Given the description of an element on the screen output the (x, y) to click on. 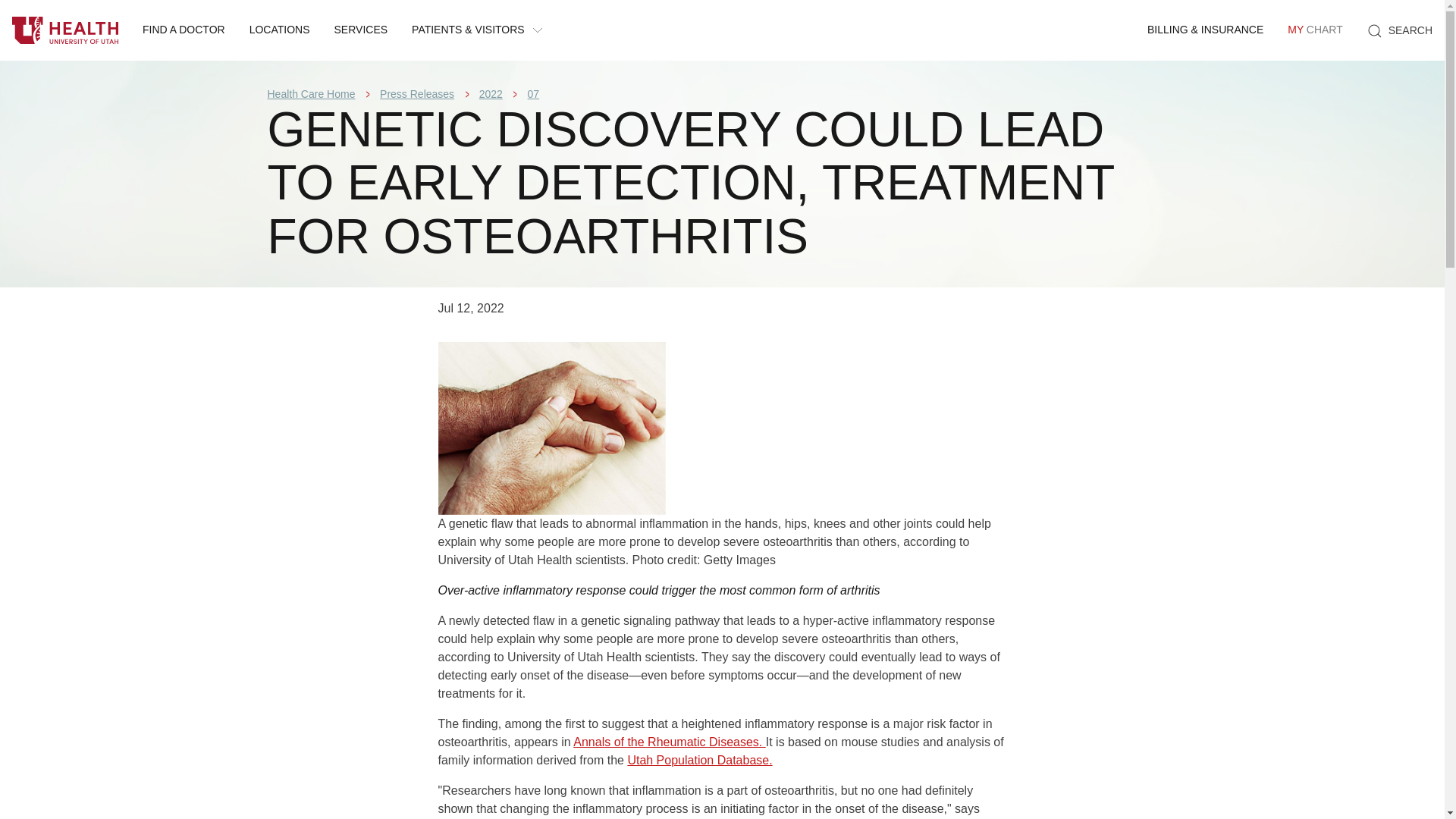
Press Releases (417, 93)
Health Care Home (310, 93)
FIND A DOCTOR (184, 30)
Annals of the Rheumatic Diseases. (669, 741)
SERVICES (360, 30)
University of Utah Health logo (1314, 30)
SEARCH (65, 30)
LOCATIONS (1399, 30)
Skip to main content (279, 30)
07 (490, 93)
Utah Population Database. (533, 93)
